Given the description of an element on the screen output the (x, y) to click on. 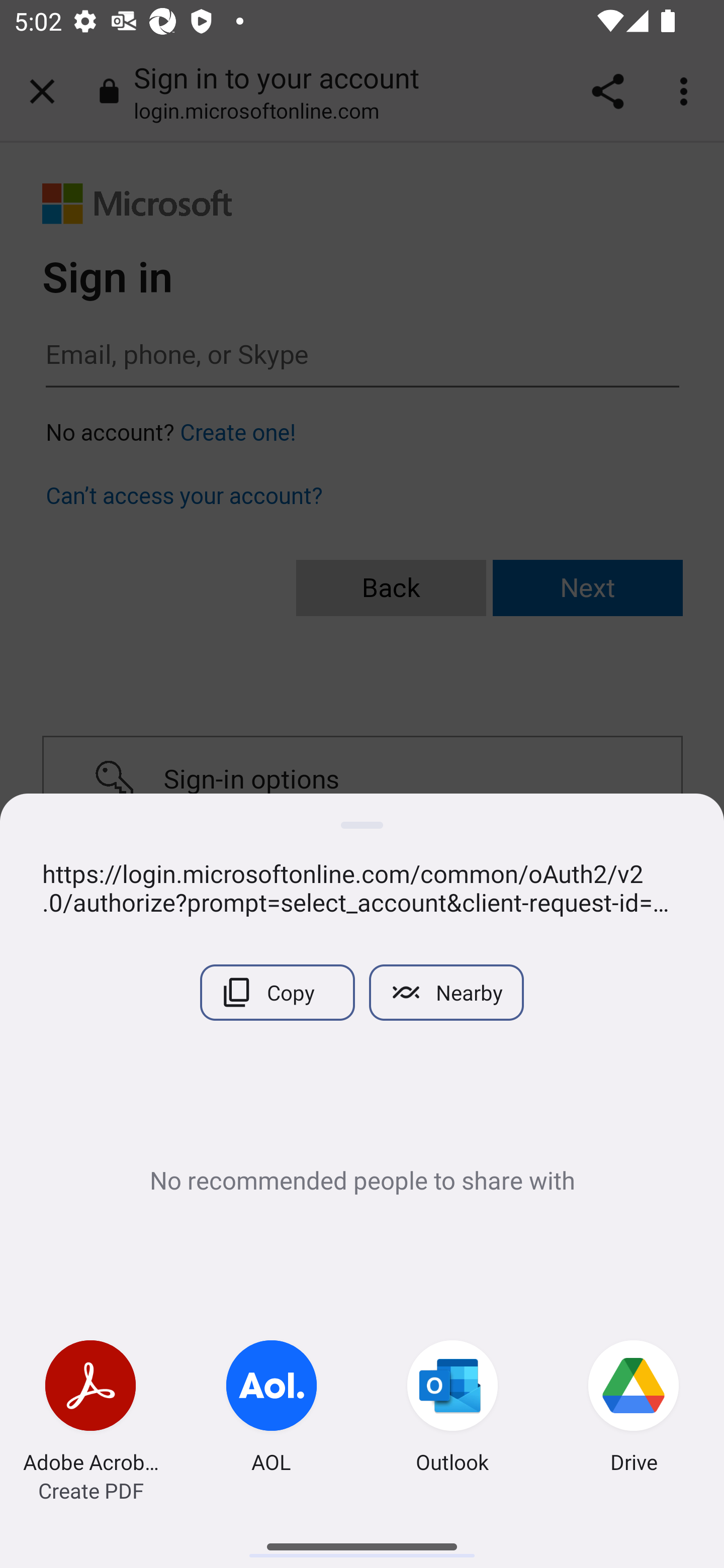
Copy (276, 992)
Nearby (446, 992)
Adobe Acrobat Create PDF (90, 1409)
AOL (271, 1409)
Outlook (452, 1409)
Drive (633, 1409)
